Given the description of an element on the screen output the (x, y) to click on. 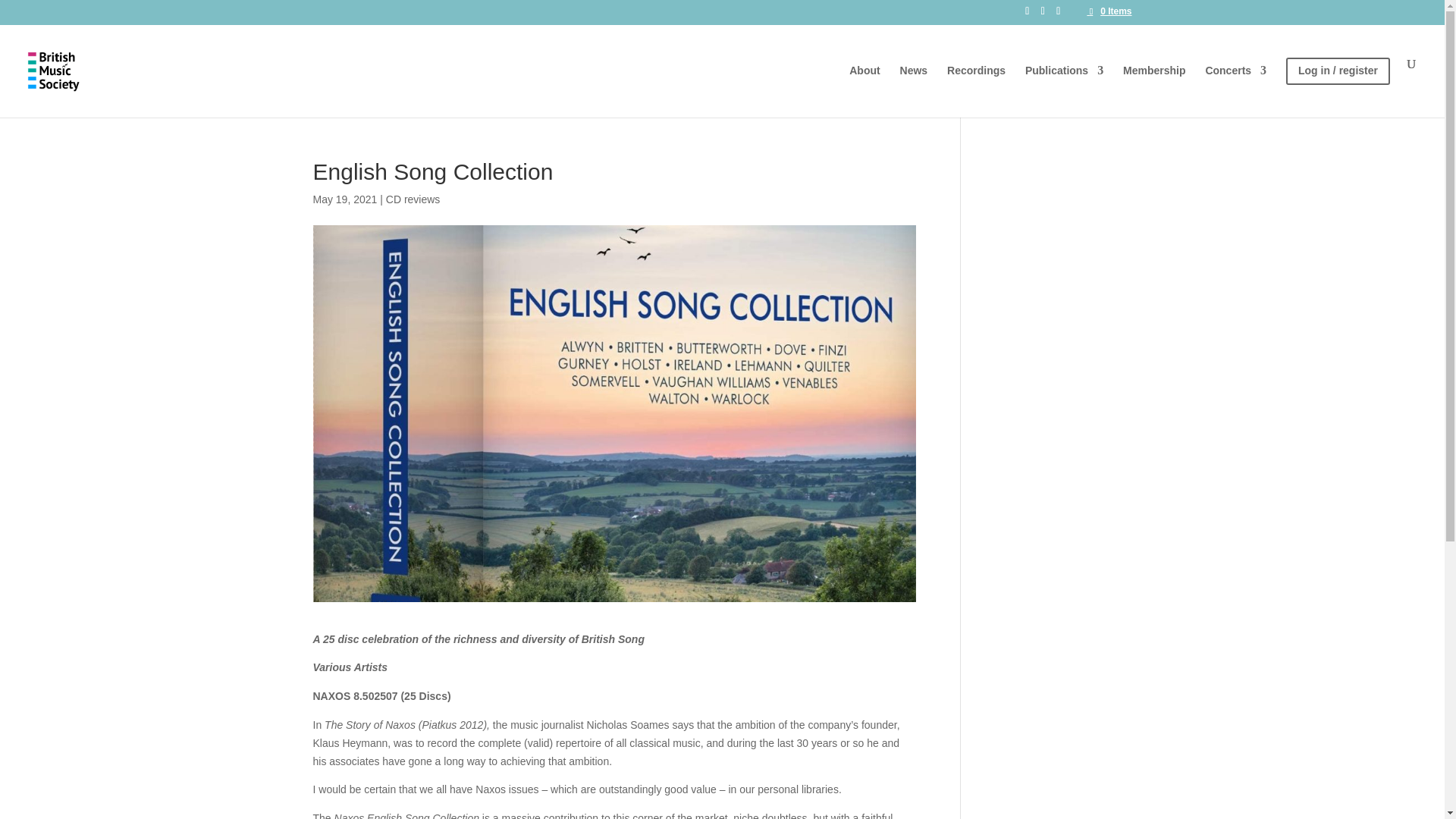
0 Items (1108, 10)
Membership (1153, 86)
CD reviews (413, 199)
Publications (1064, 86)
Concerts (1235, 86)
Recordings (976, 86)
